Given the description of an element on the screen output the (x, y) to click on. 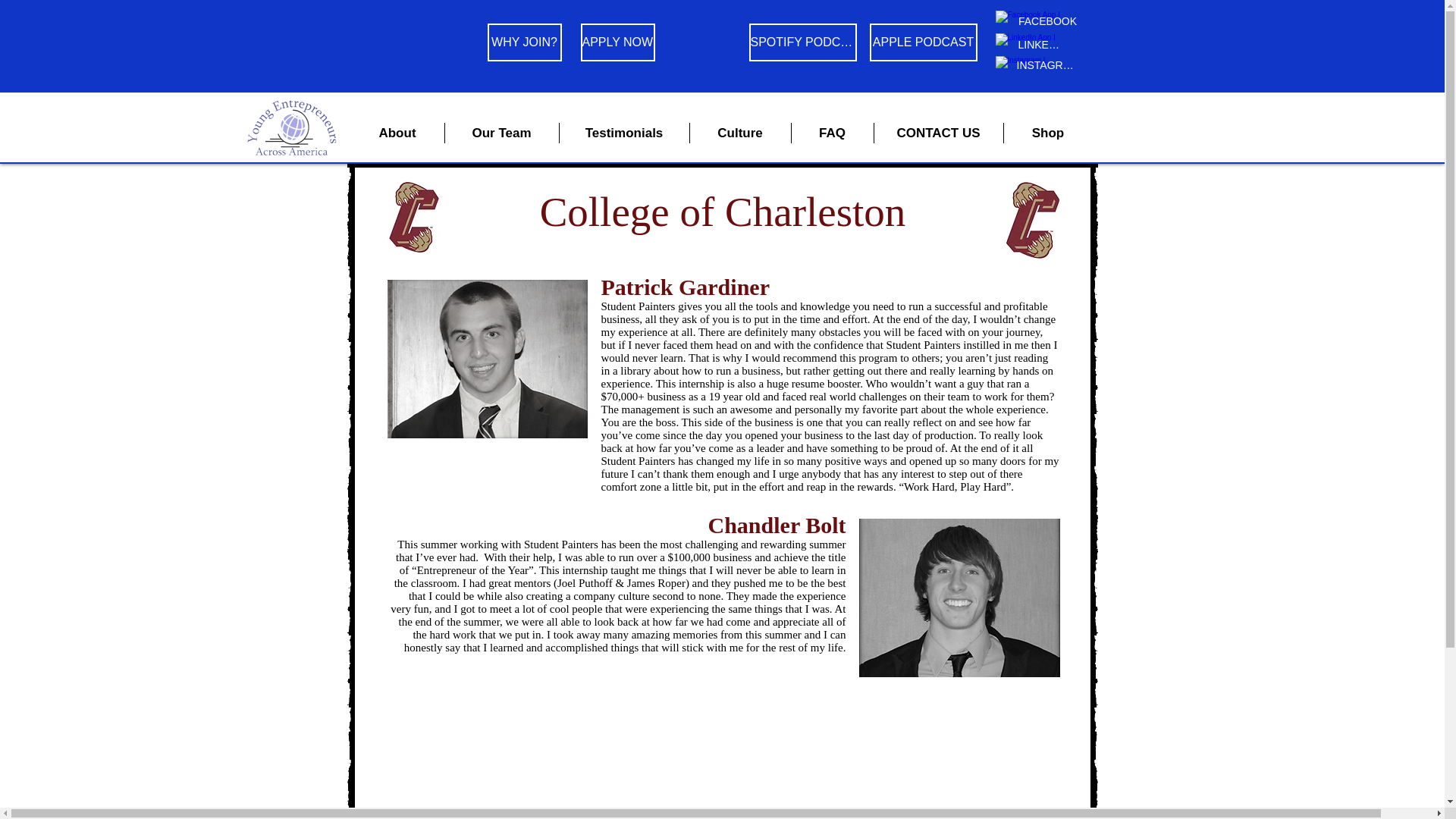
WHY JOIN? (523, 42)
APPLY NOW (617, 42)
Shop (1048, 132)
LINKEDIN (1041, 44)
APPLE PODCAST (922, 42)
SPOTIFY PODCAST (803, 42)
CONTACT US (938, 132)
INSTAGRAM (1046, 64)
FACEBOOK (1047, 20)
